Given the description of an element on the screen output the (x, y) to click on. 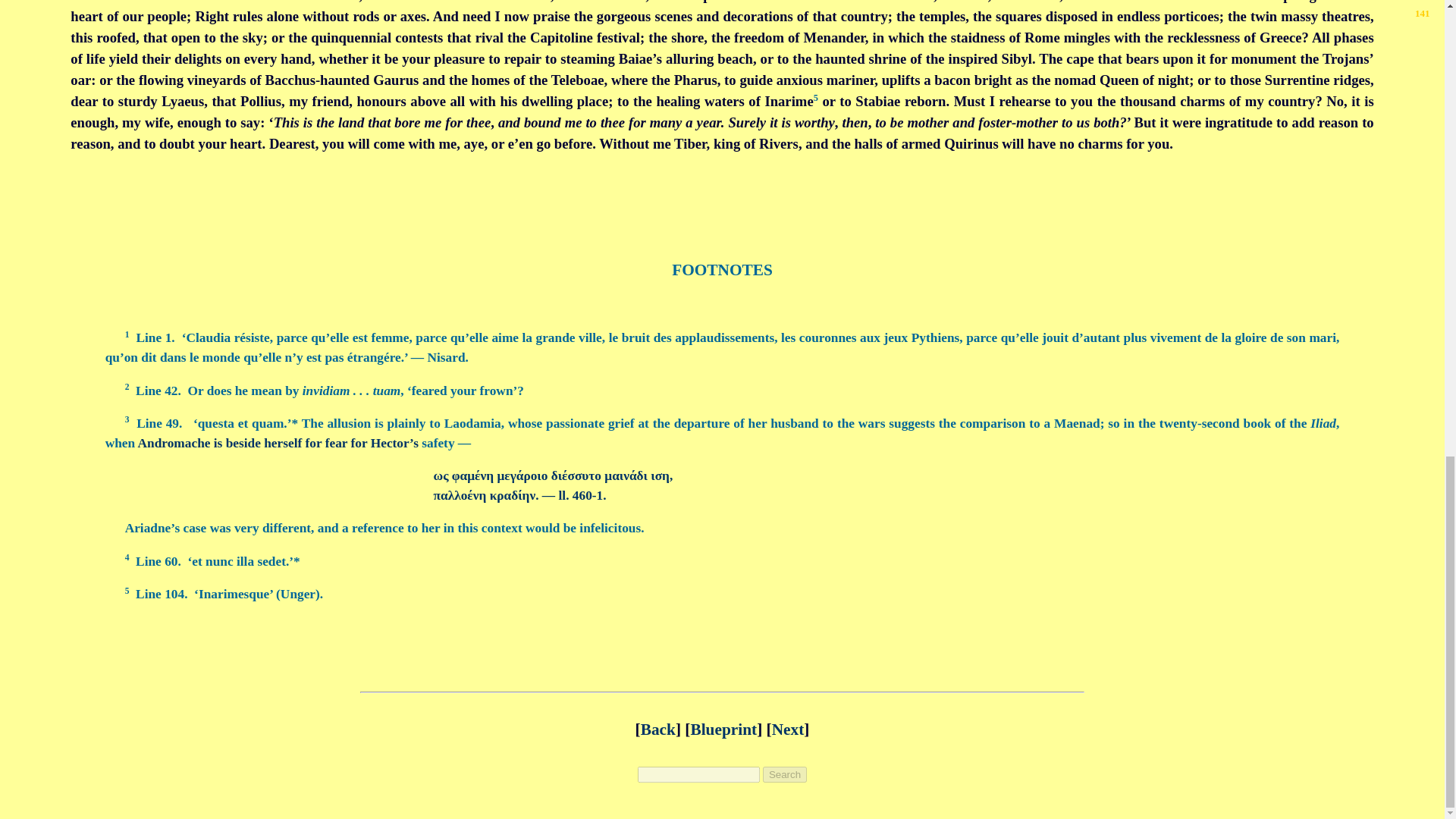
Back (657, 729)
Search (784, 774)
141 (1422, 12)
Search (784, 774)
Blueprint (723, 729)
Next (788, 729)
